Given the description of an element on the screen output the (x, y) to click on. 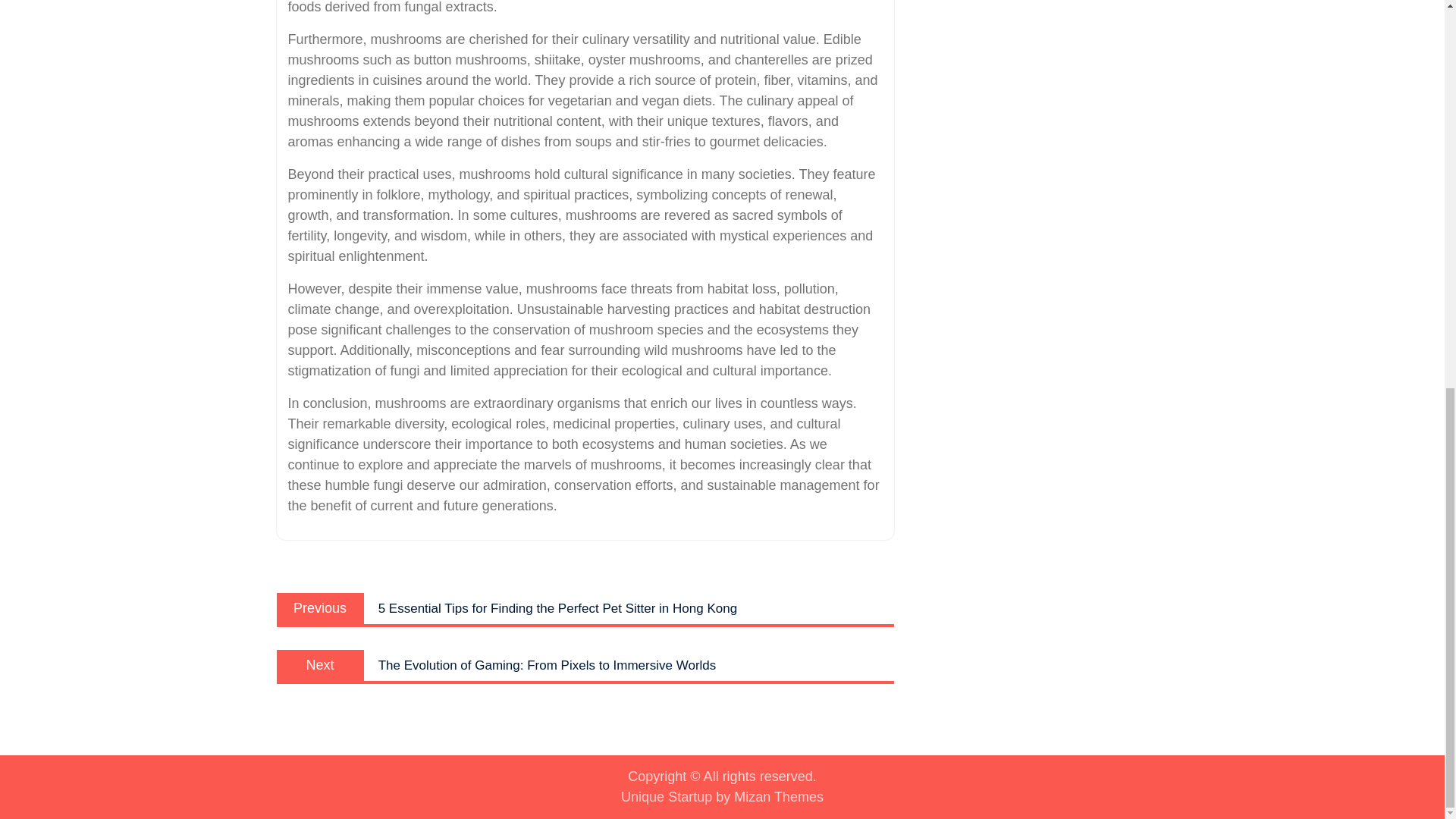
Unique Startup by Mizan Themes (722, 796)
